Given the description of an element on the screen output the (x, y) to click on. 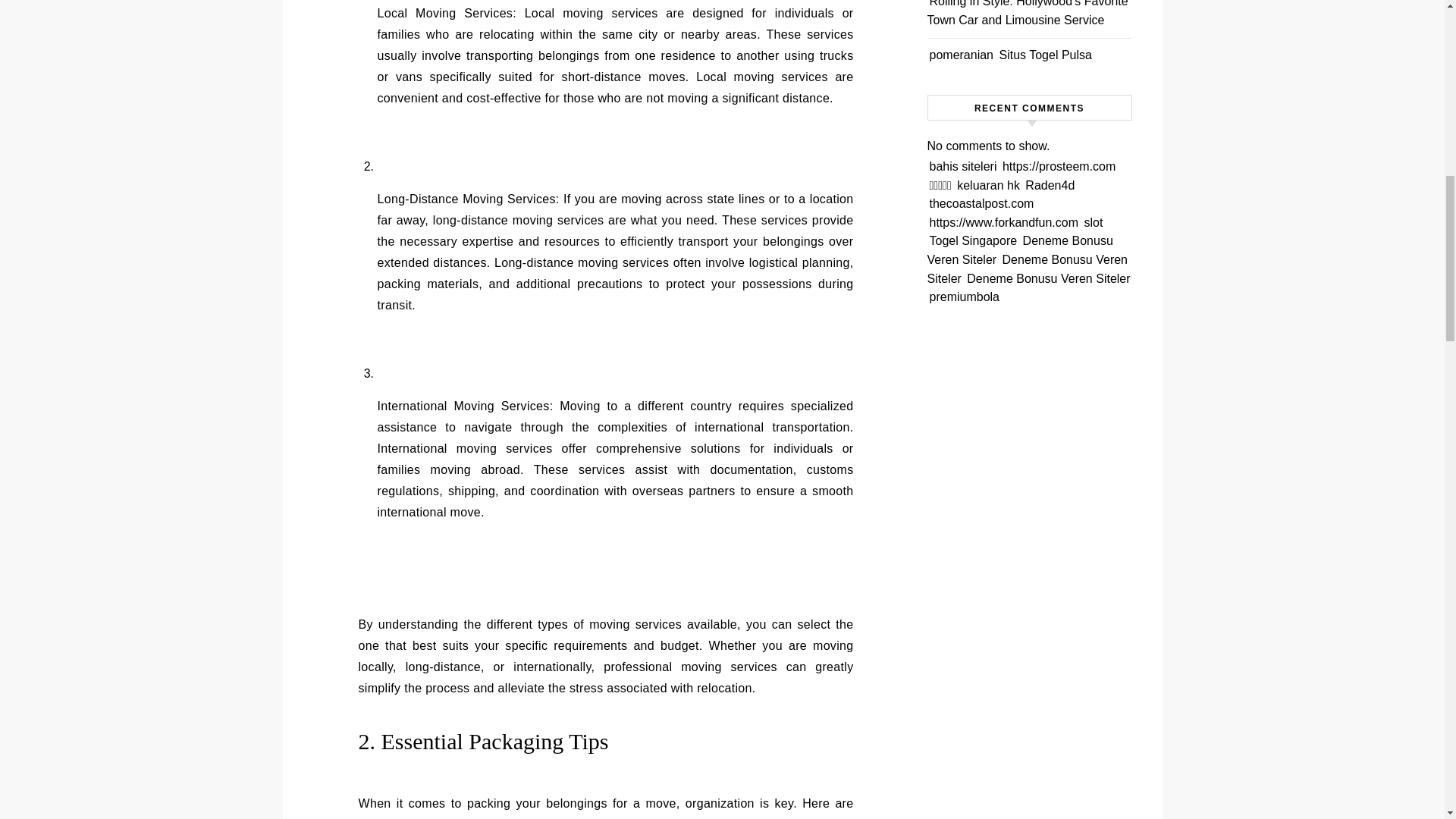
slot (1092, 222)
Raden4d (1049, 185)
thecoastalpost.com (981, 203)
Deneme Bonusu Veren Siteler (1026, 269)
Togel Singapore (973, 240)
Situs Togel Pulsa (1044, 54)
bahis siteleri (963, 165)
Deneme Bonusu Veren Siteler (1019, 250)
keluaran hk (988, 185)
pomeranian (962, 54)
